Given the description of an element on the screen output the (x, y) to click on. 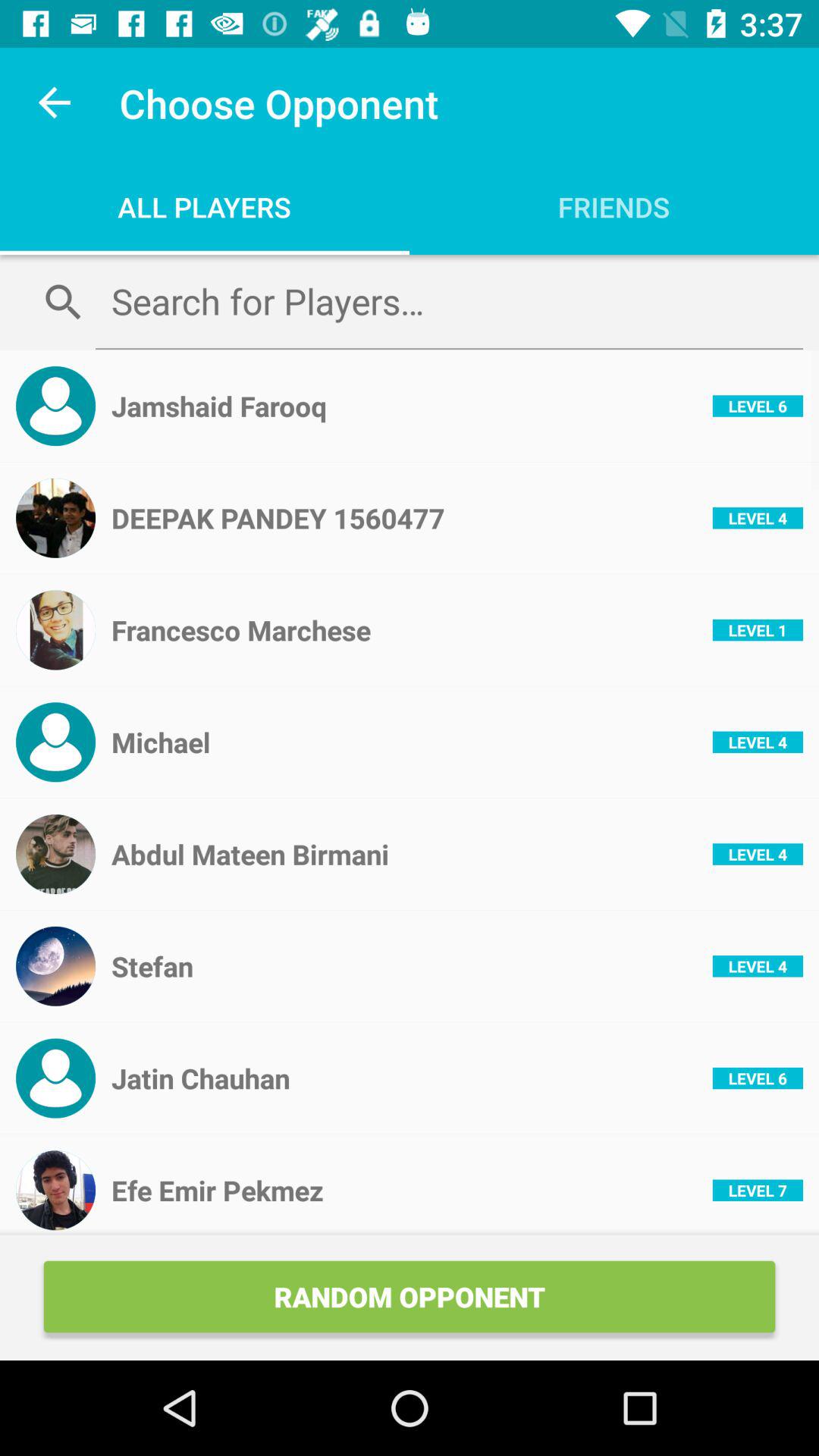
search for players (449, 301)
